Given the description of an element on the screen output the (x, y) to click on. 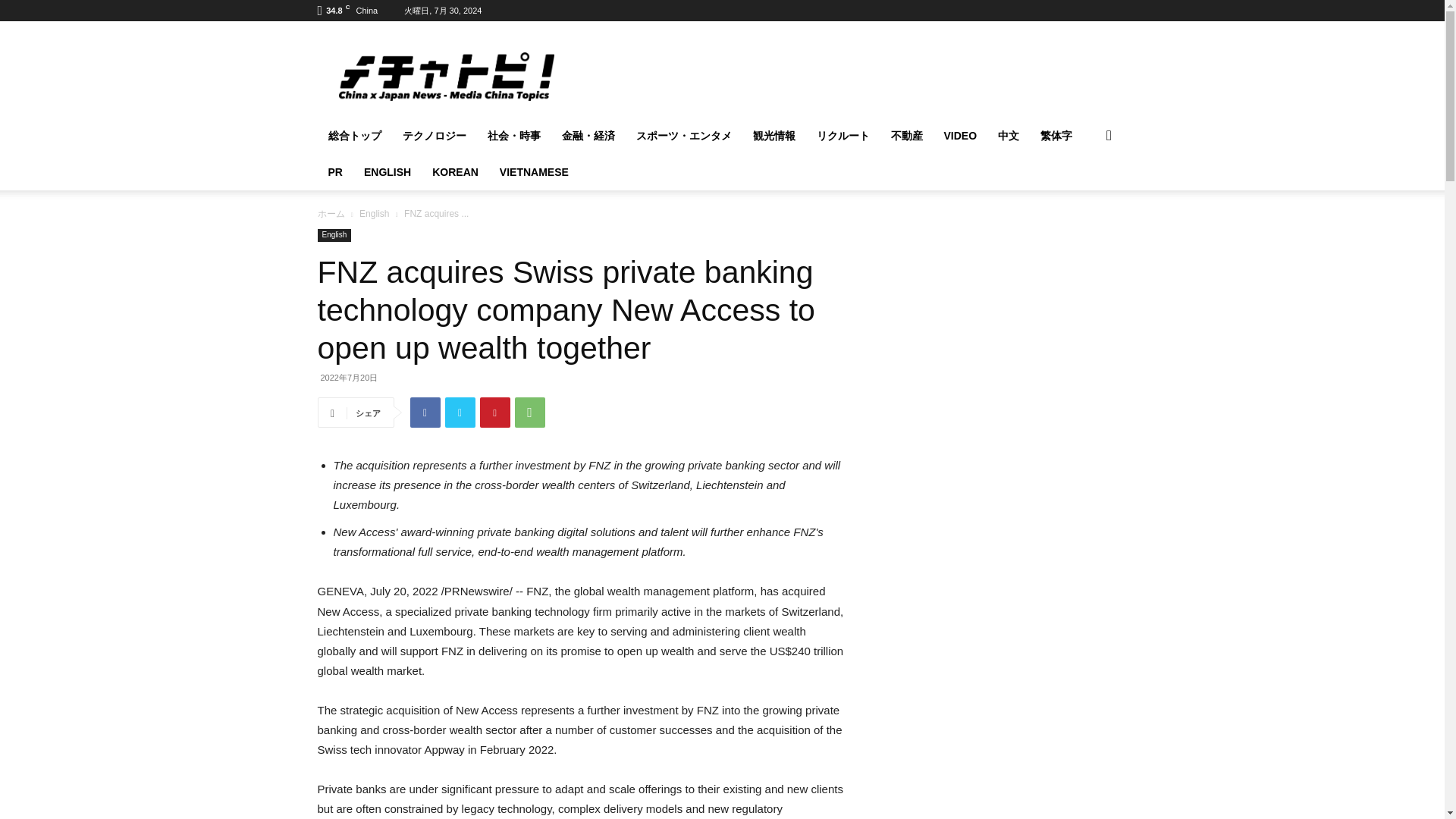
Facebook (425, 412)
ENGLISH (387, 171)
KOREAN (455, 171)
Twitter (460, 412)
WhatsApp (529, 412)
VIETNAMESE (534, 171)
Pinterest (495, 412)
PR (334, 171)
VIDEO (960, 135)
